Given the description of an element on the screen output the (x, y) to click on. 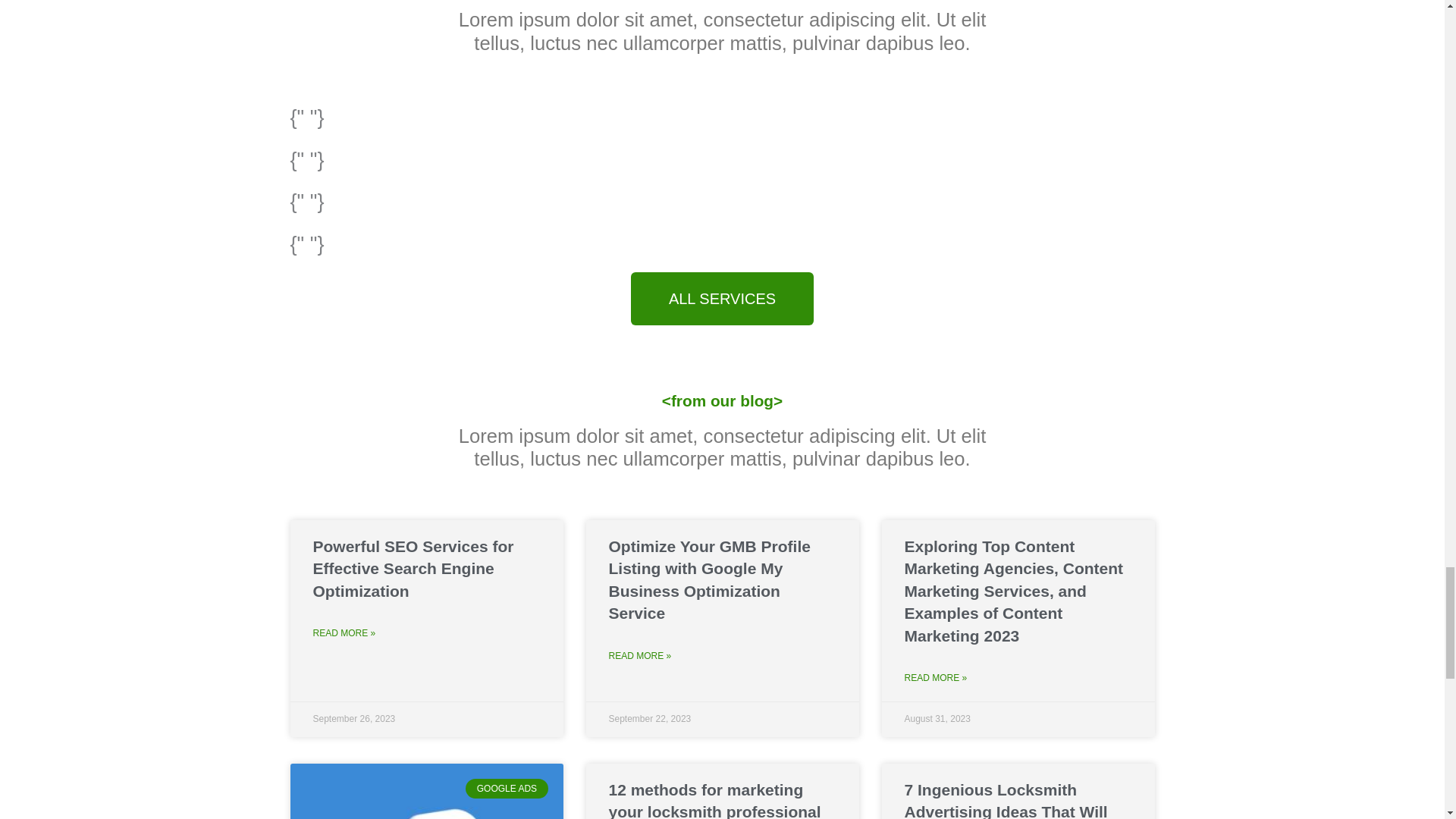
ALL SERVICES (721, 298)
